Given the description of an element on the screen output the (x, y) to click on. 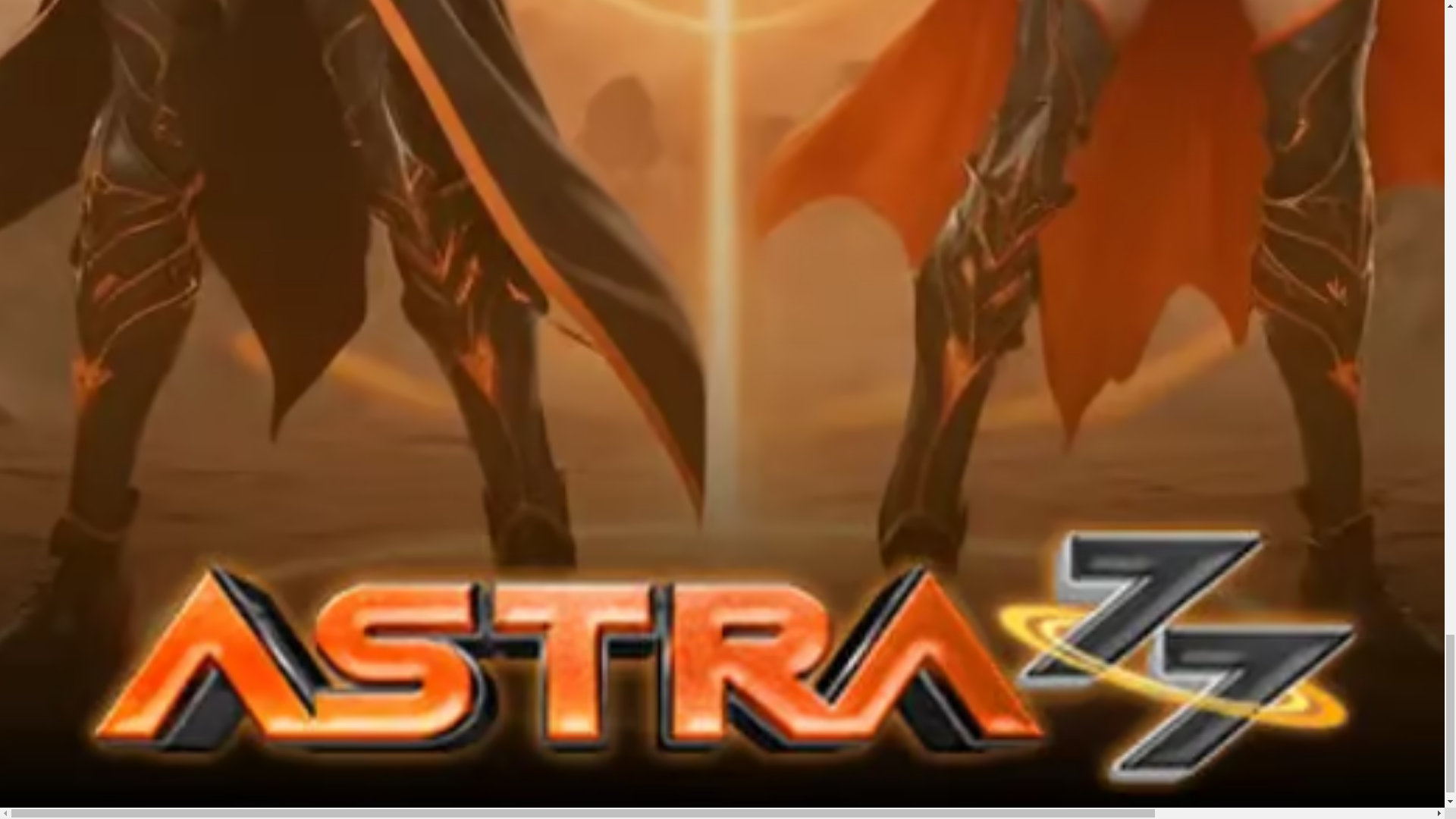
1 (30, 662)
